Given the description of an element on the screen output the (x, y) to click on. 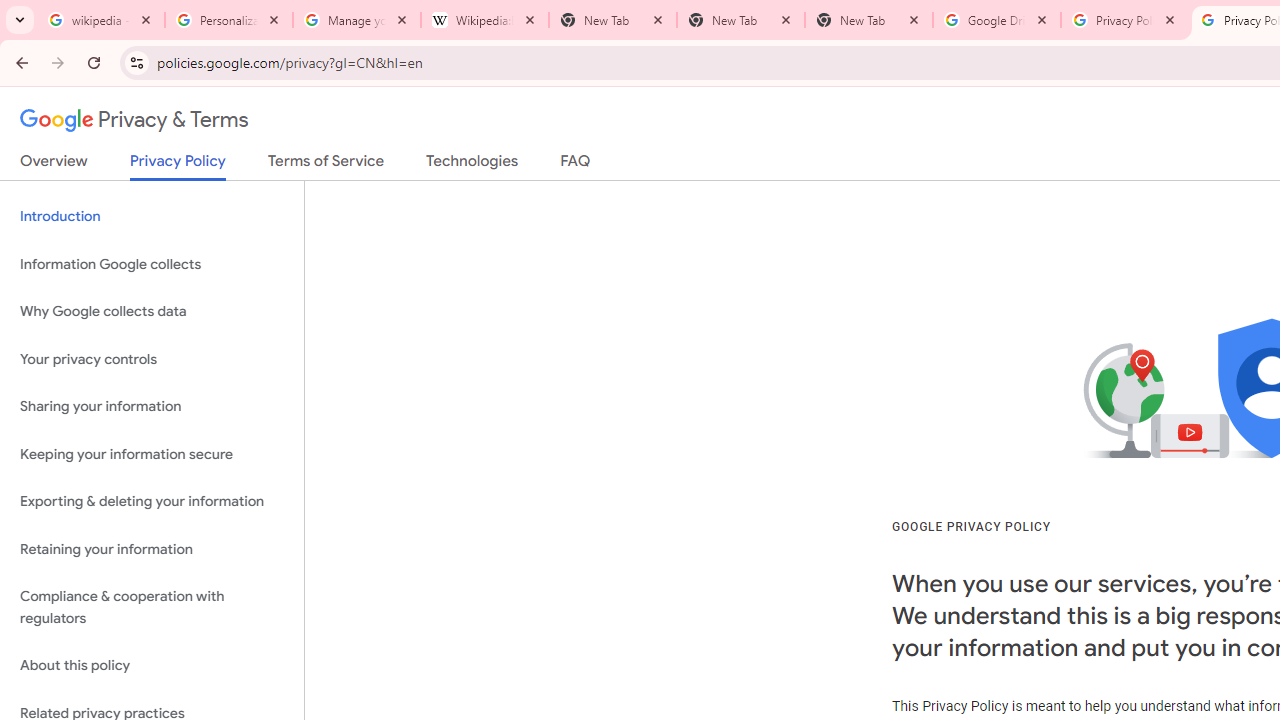
Retaining your information (152, 548)
Compliance & cooperation with regulators (152, 607)
